Given the description of an element on the screen output the (x, y) to click on. 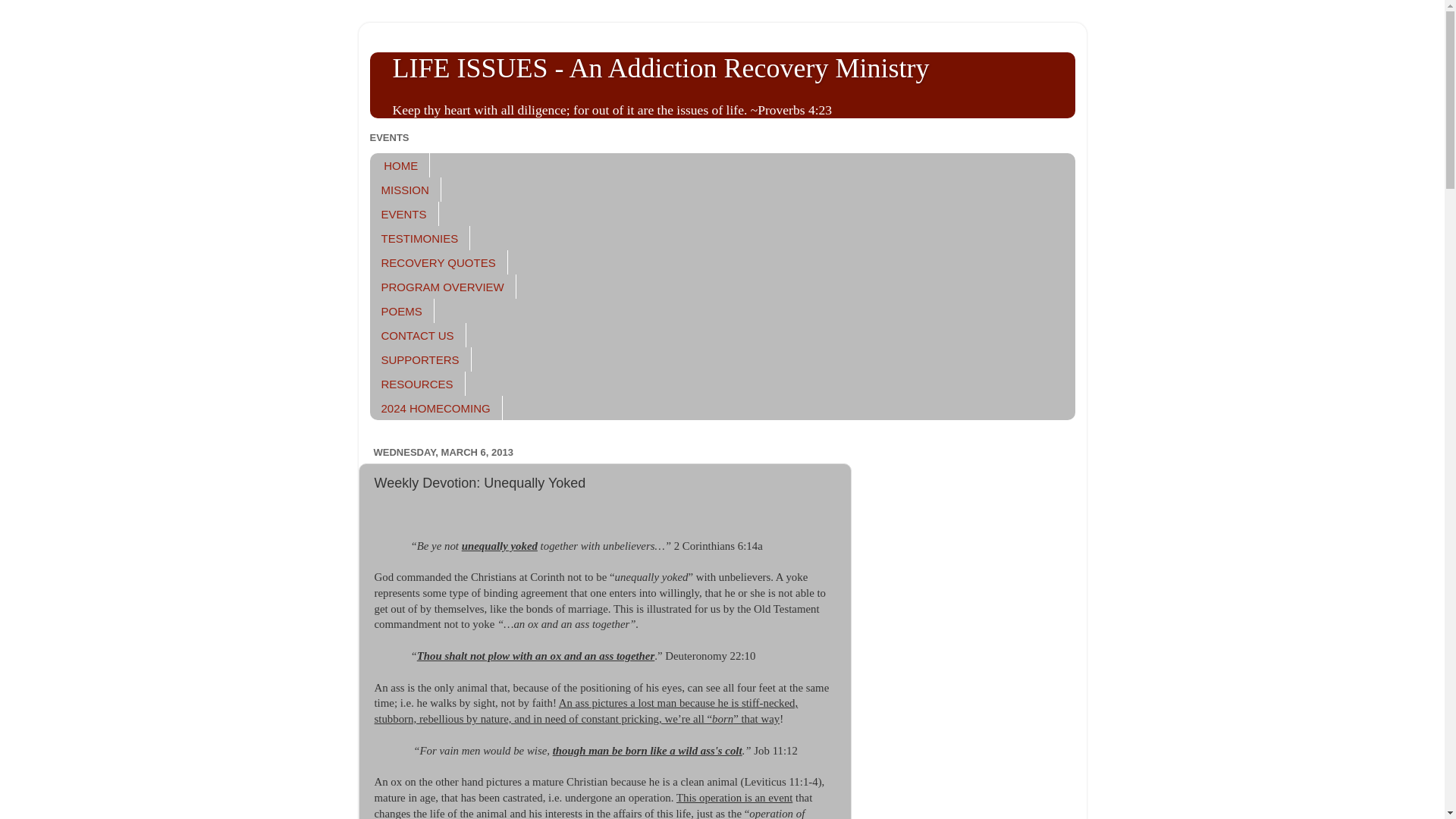
PROGRAM OVERVIEW (442, 286)
RECOVERY QUOTES (438, 262)
TESTIMONIES (419, 238)
RESOURCES (417, 383)
HOME (399, 165)
POEMS (401, 310)
MISSION (405, 189)
SUPPORTERS (420, 359)
EVENTS (404, 213)
CONTACT US (417, 334)
2024 HOMECOMING (435, 407)
LIFE ISSUES - An Addiction Recovery Ministry (661, 68)
